Given the description of an element on the screen output the (x, y) to click on. 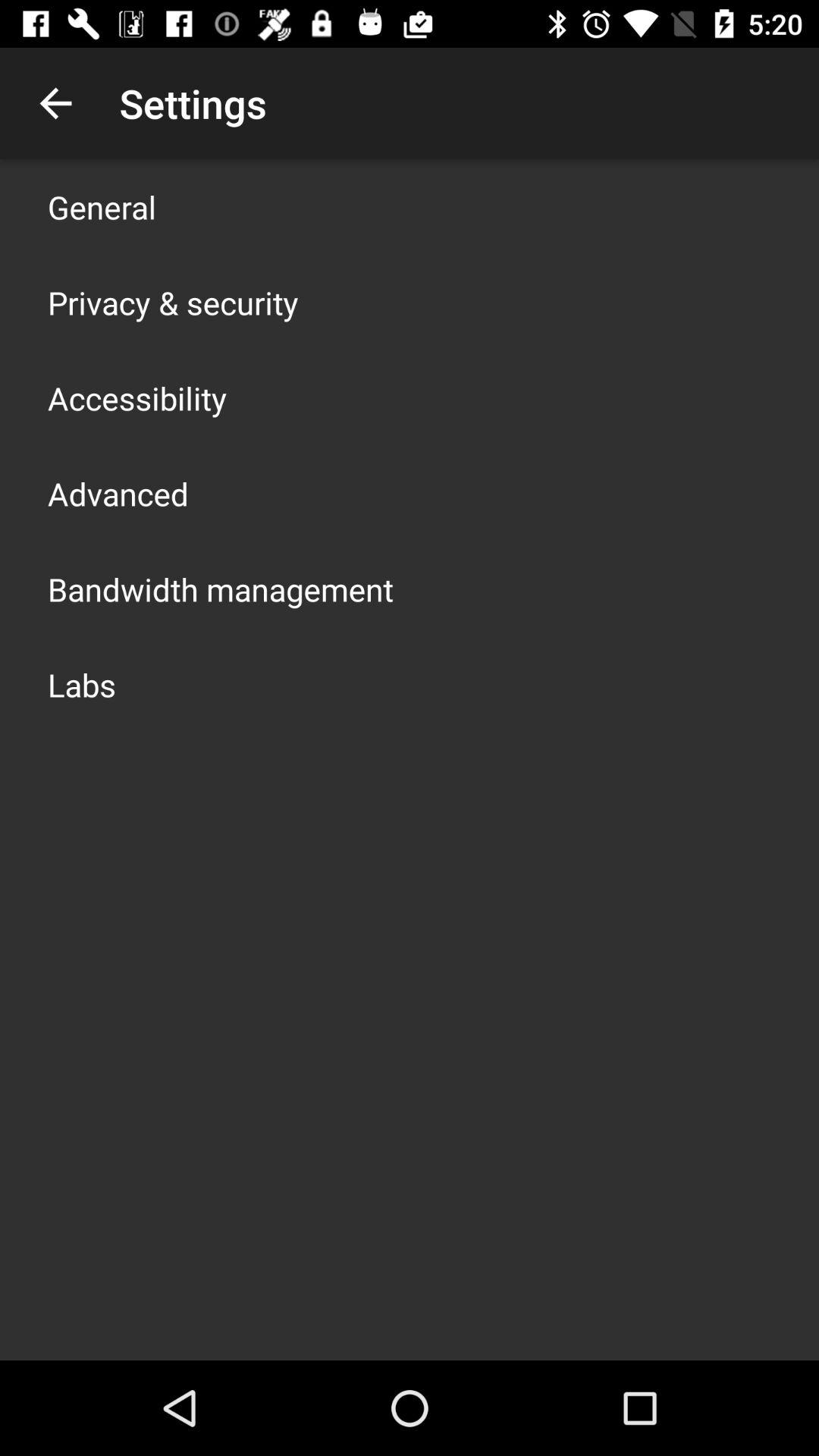
scroll to accessibility icon (136, 397)
